Given the description of an element on the screen output the (x, y) to click on. 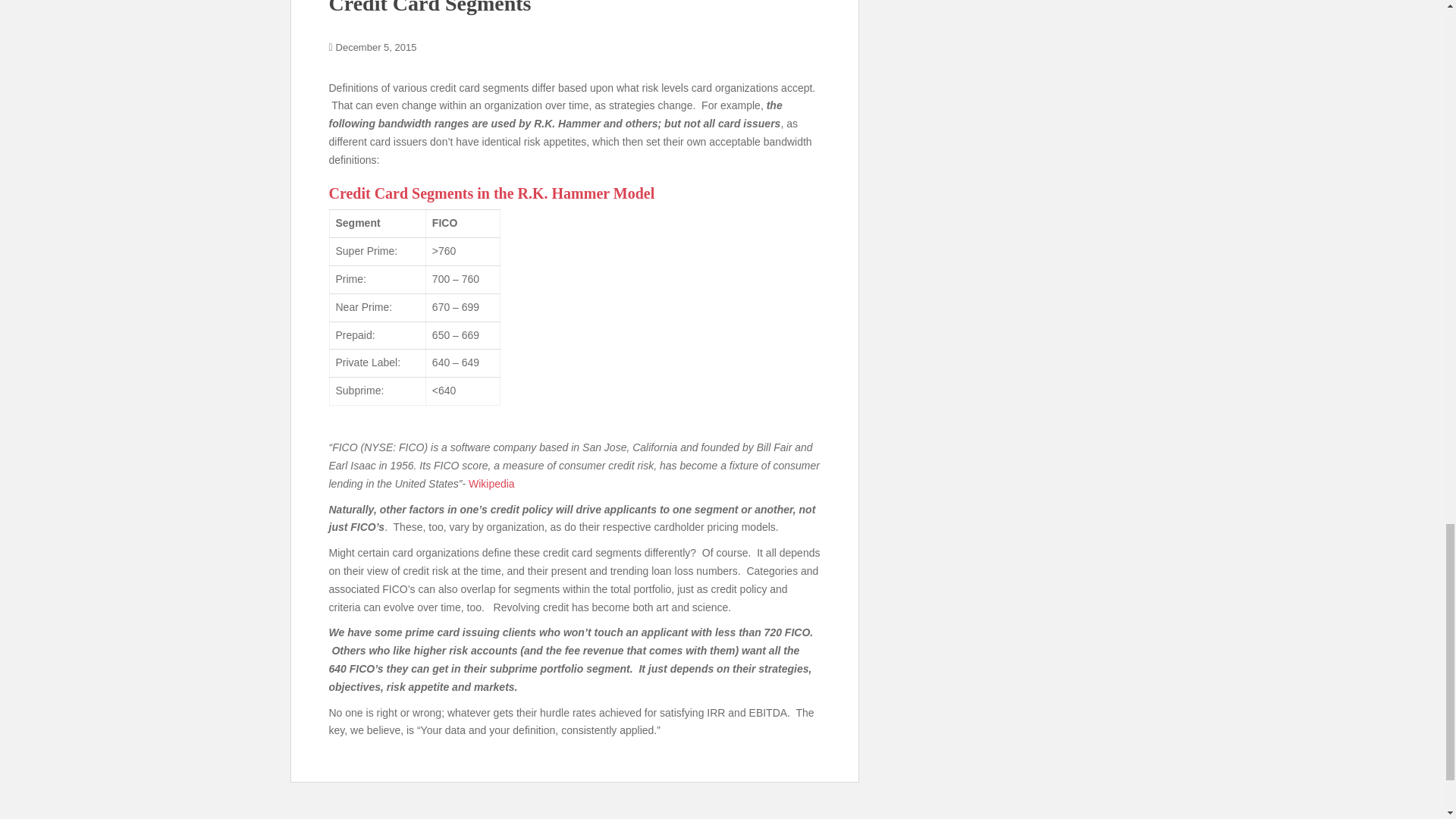
Wikipedia (491, 483)
Credit Card Segments (430, 7)
December 5, 2015 (376, 47)
